Given the description of an element on the screen output the (x, y) to click on. 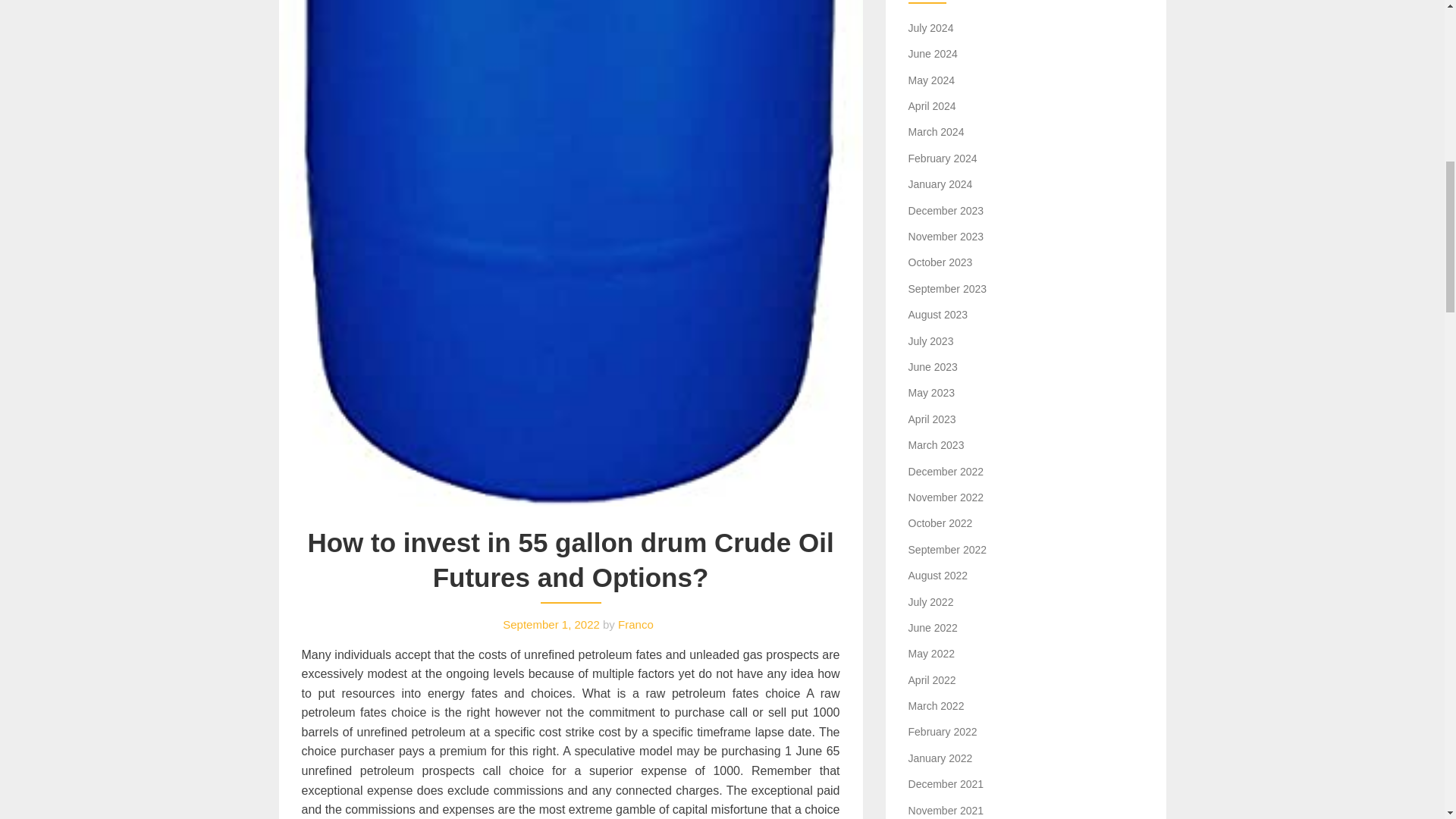
July 2023 (930, 340)
February 2024 (942, 158)
January 2024 (940, 184)
June 2022 (933, 627)
August 2023 (938, 314)
October 2022 (940, 522)
March 2024 (935, 132)
November 2022 (946, 497)
August 2022 (938, 575)
March 2023 (935, 444)
April 2024 (932, 105)
April 2023 (932, 419)
June 2024 (933, 53)
July 2022 (930, 602)
July 2024 (930, 28)
